Given the description of an element on the screen output the (x, y) to click on. 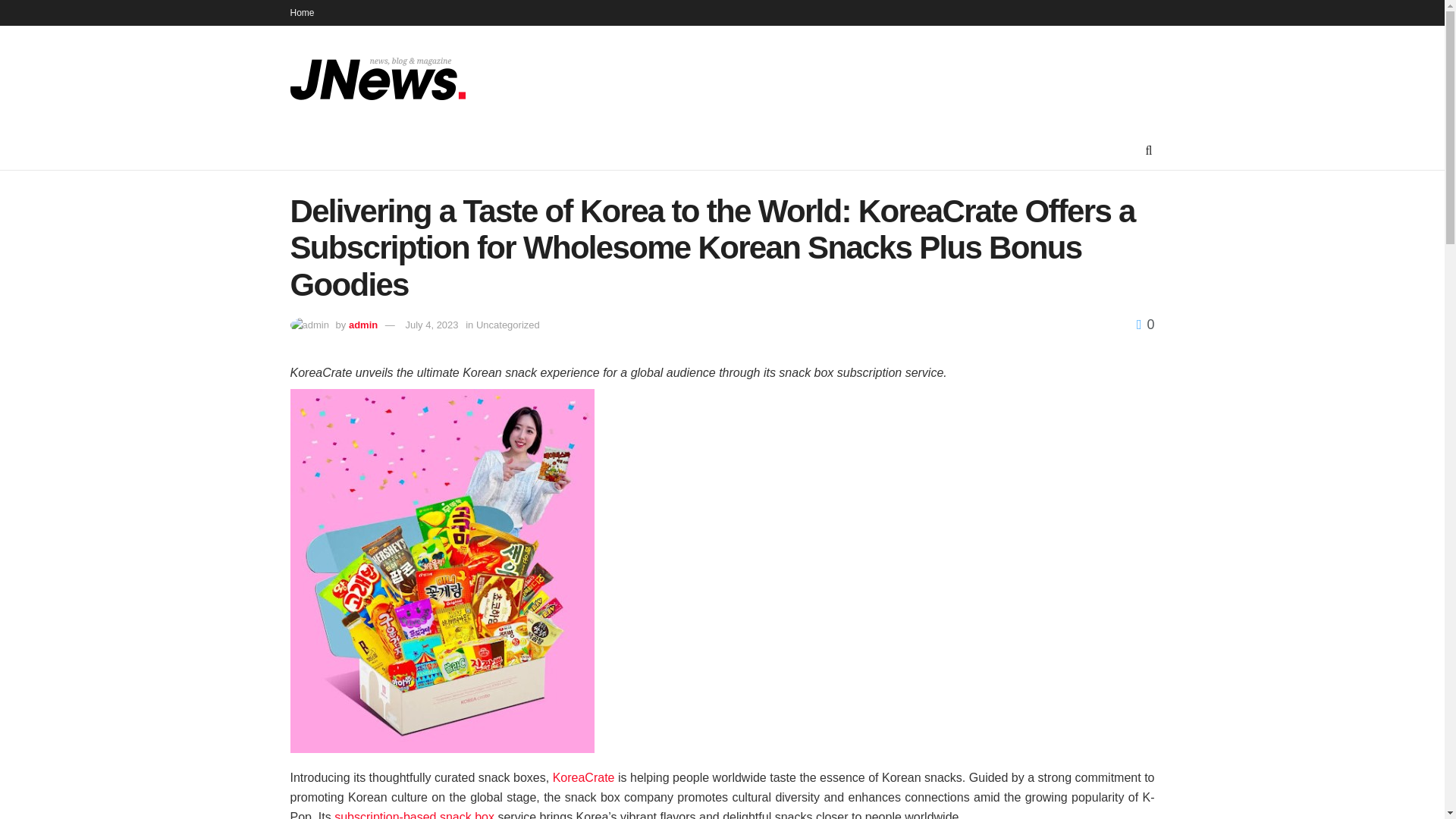
subscription-based snack box (414, 814)
0 (1145, 324)
Home (301, 12)
KoreaCrate (583, 777)
admin (363, 324)
July 4, 2023 (431, 324)
